Given the description of an element on the screen output the (x, y) to click on. 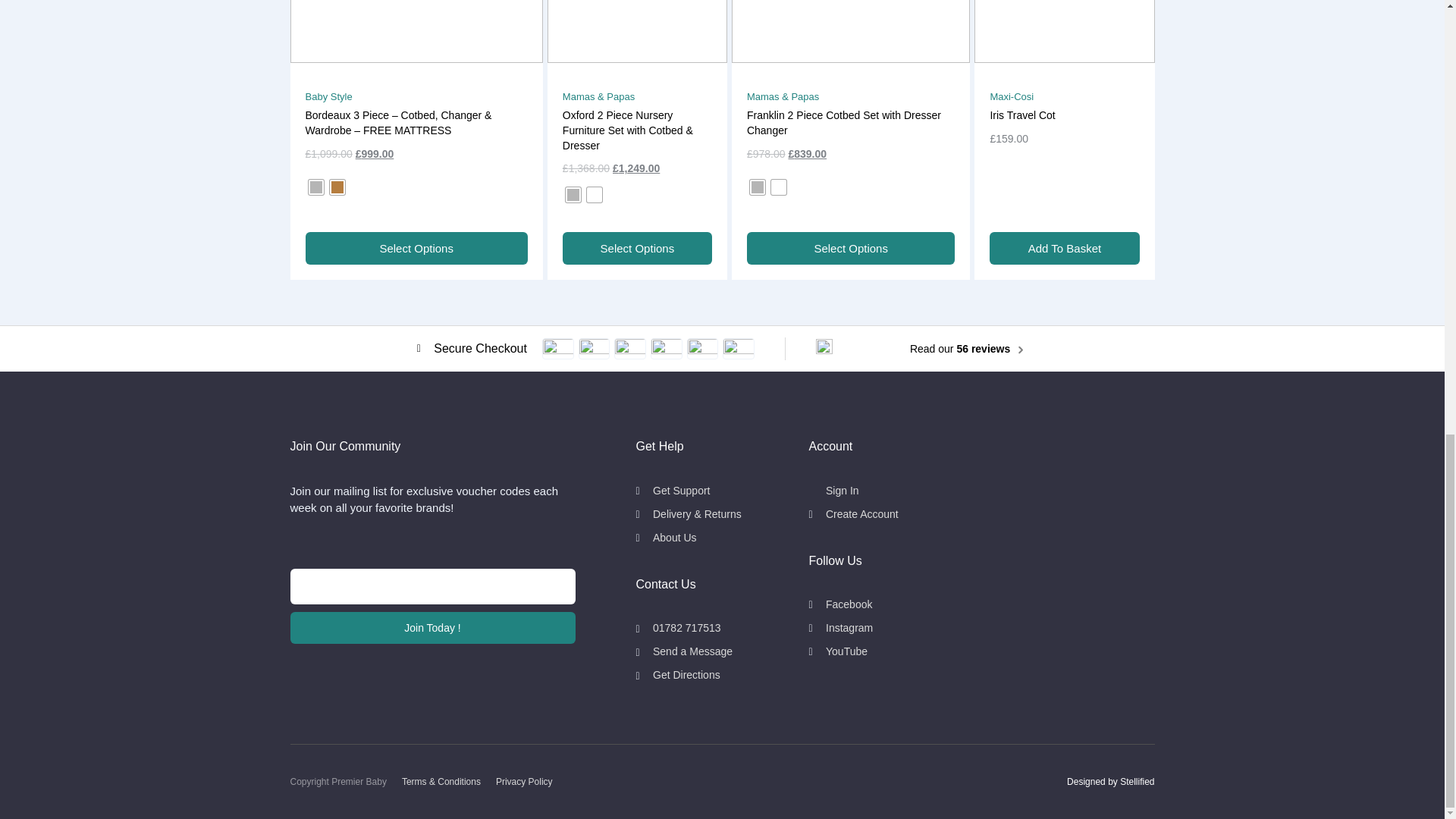
White (778, 186)
Oak (336, 186)
Grey (757, 186)
Grey (573, 194)
Grey (315, 186)
White (594, 194)
